Given the description of an element on the screen output the (x, y) to click on. 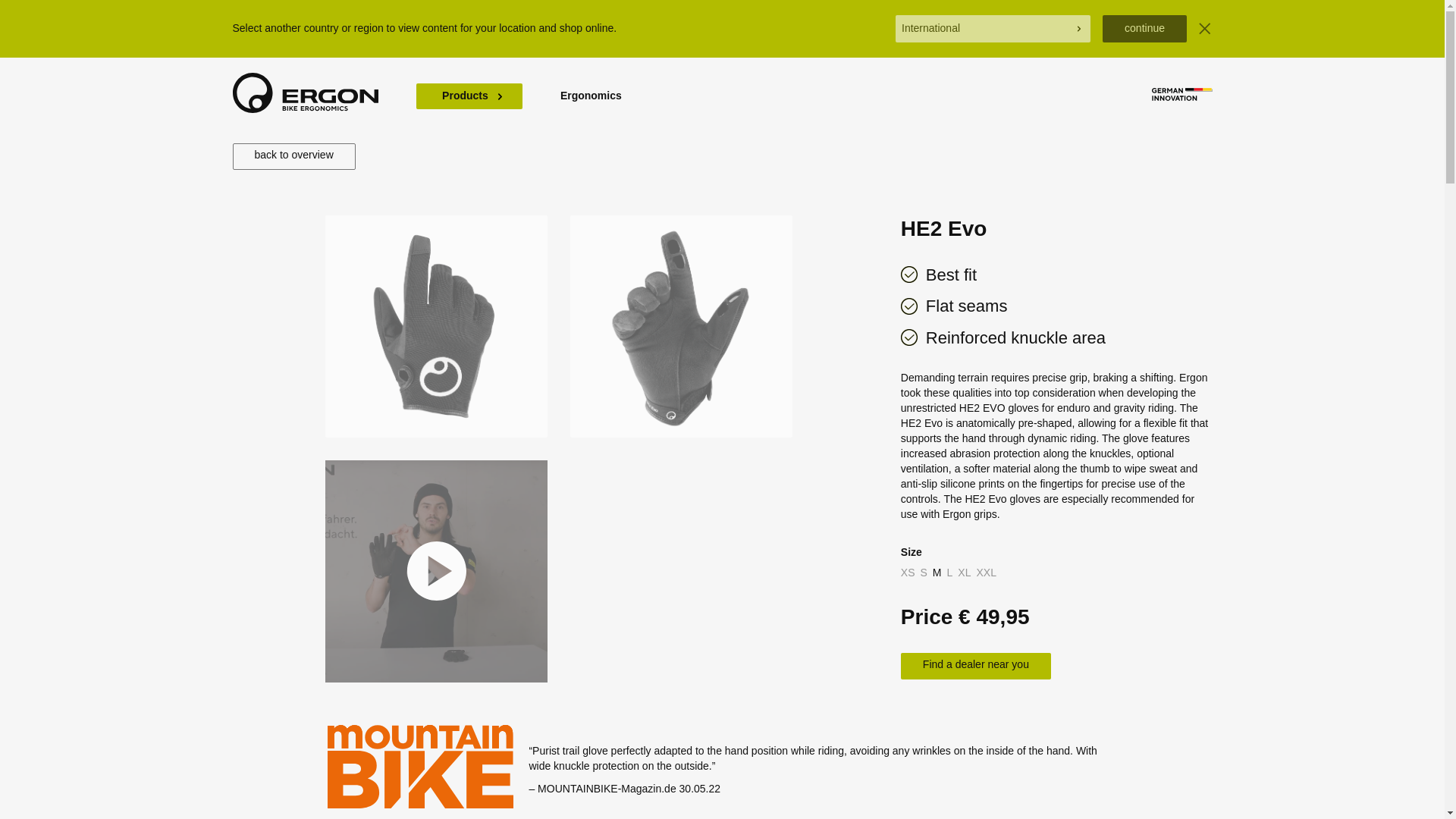
continue (1144, 28)
XXL (985, 572)
back to overview (293, 156)
XL (964, 572)
XS (908, 572)
close (1204, 28)
Find a dealer near you (976, 665)
Products (467, 95)
Ergonomics (590, 96)
